Given the description of an element on the screen output the (x, y) to click on. 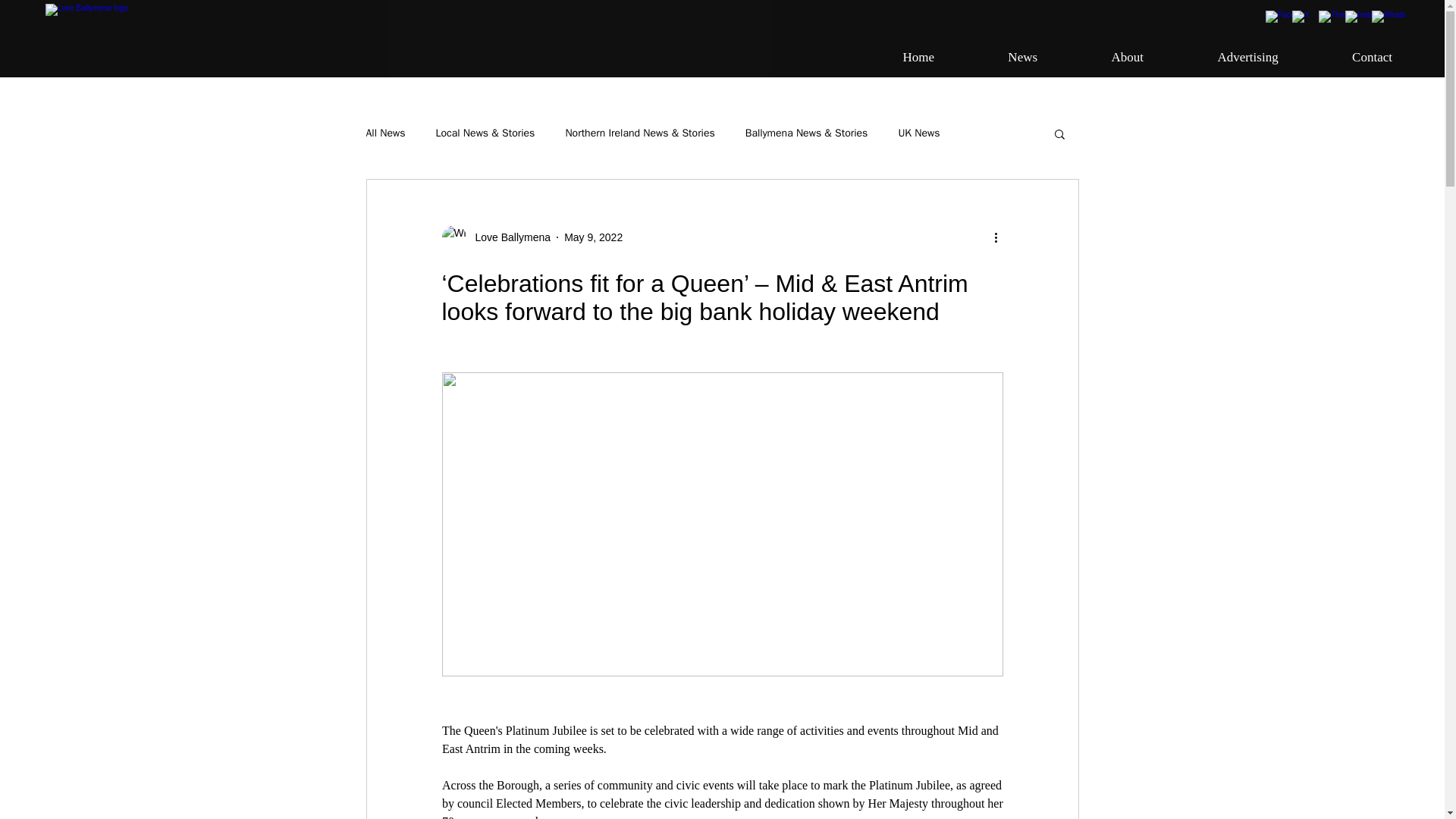
News (996, 57)
About (1101, 57)
UK News (918, 133)
Home (892, 57)
Contact (1345, 57)
Advertising (1121, 57)
All News (1221, 57)
May 9, 2022 (384, 133)
Love Ballymena (593, 236)
